Given the description of an element on the screen output the (x, y) to click on. 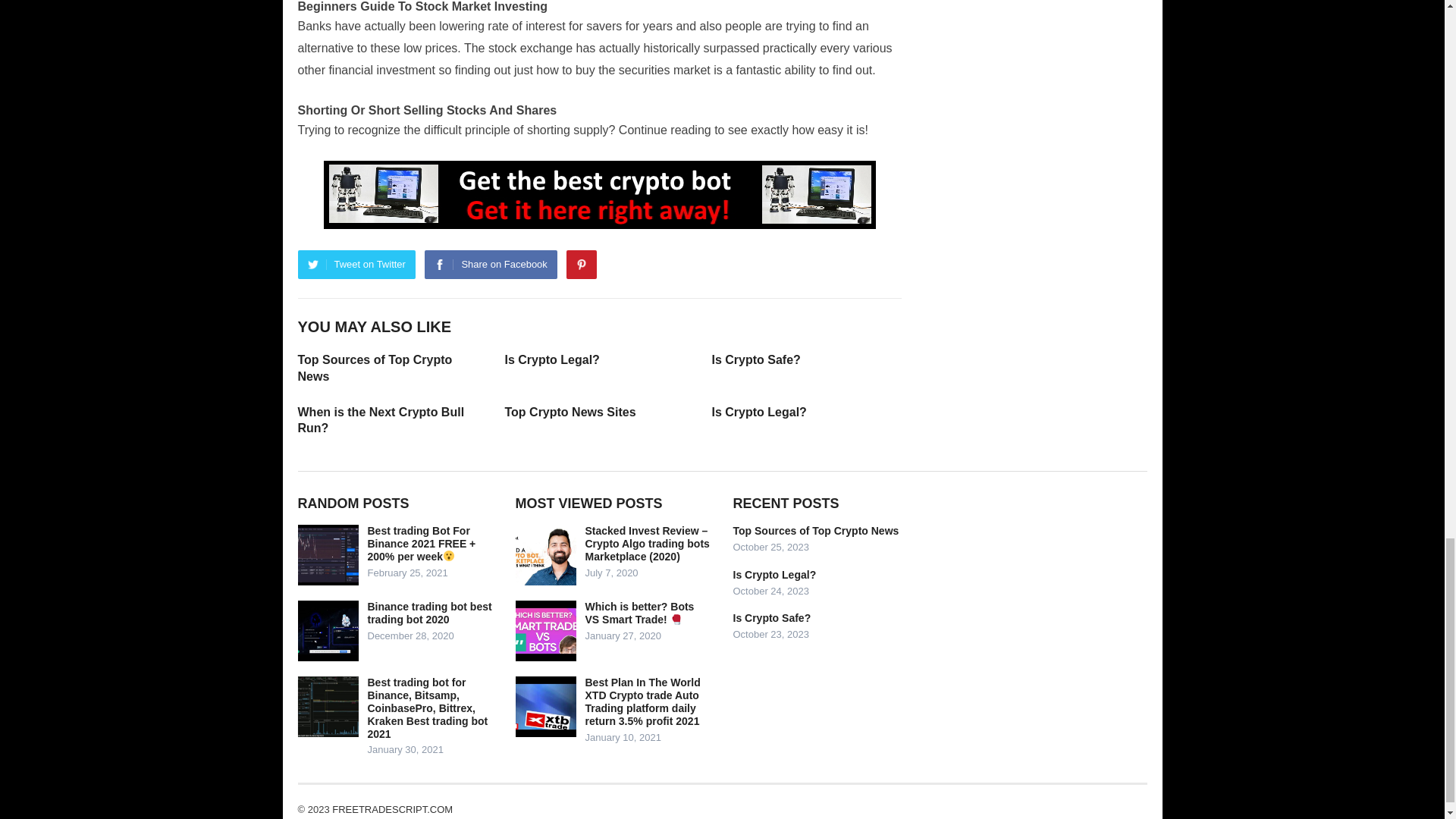
Top Sources of Top Crypto News (374, 367)
Is Crypto Legal? (758, 411)
Share on Facebook (490, 264)
Is Crypto Legal? (552, 359)
Pinterest (581, 264)
Is Crypto Safe? (755, 359)
Tweet on Twitter (355, 264)
Top Crypto News Sites (570, 411)
Binance trading bot best trading bot 2020 8 (327, 630)
